Given the description of an element on the screen output the (x, y) to click on. 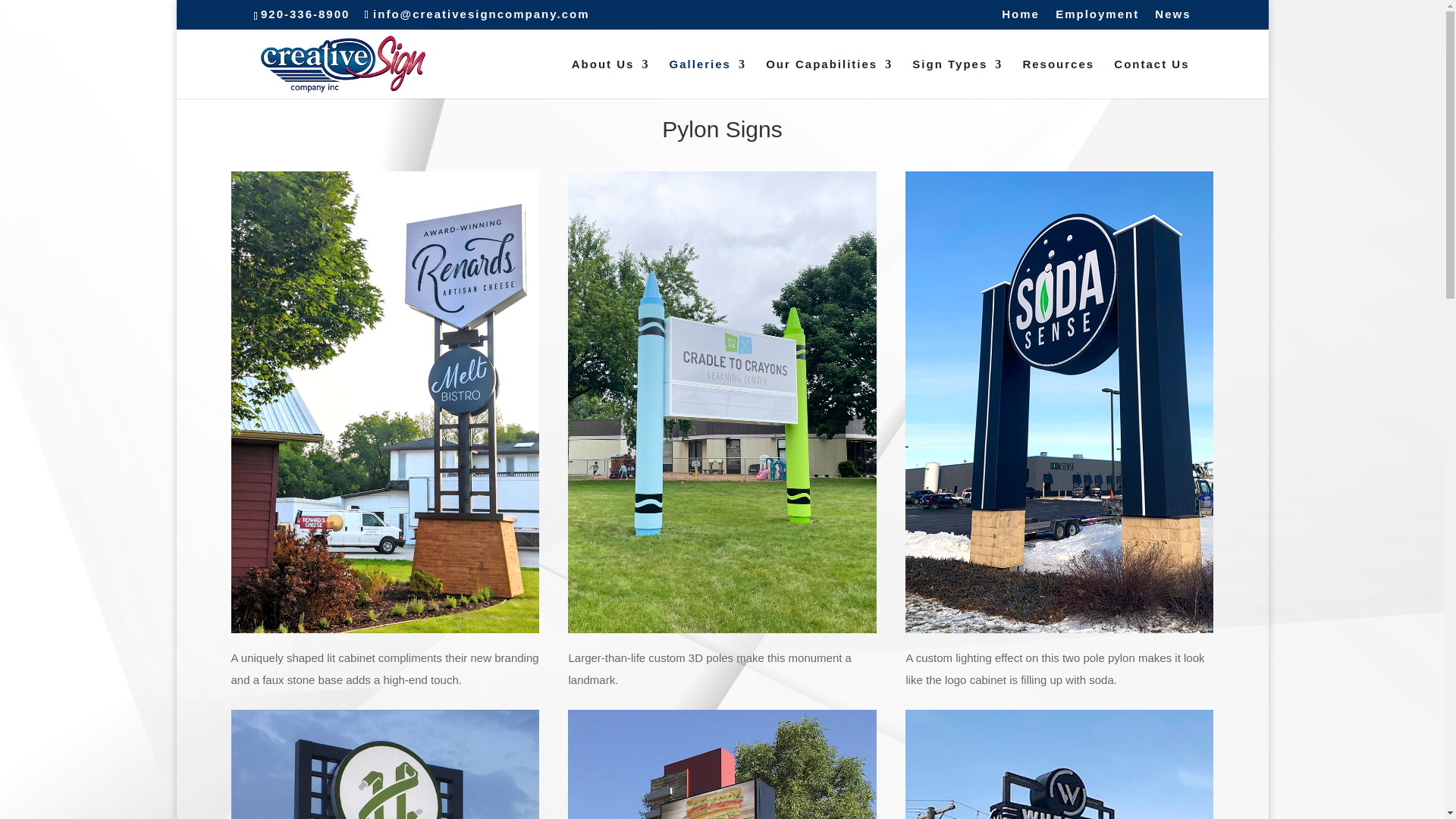
Employment (1096, 17)
Galleries (707, 78)
About Us (610, 78)
News (1172, 17)
Home (1020, 17)
